Given the description of an element on the screen output the (x, y) to click on. 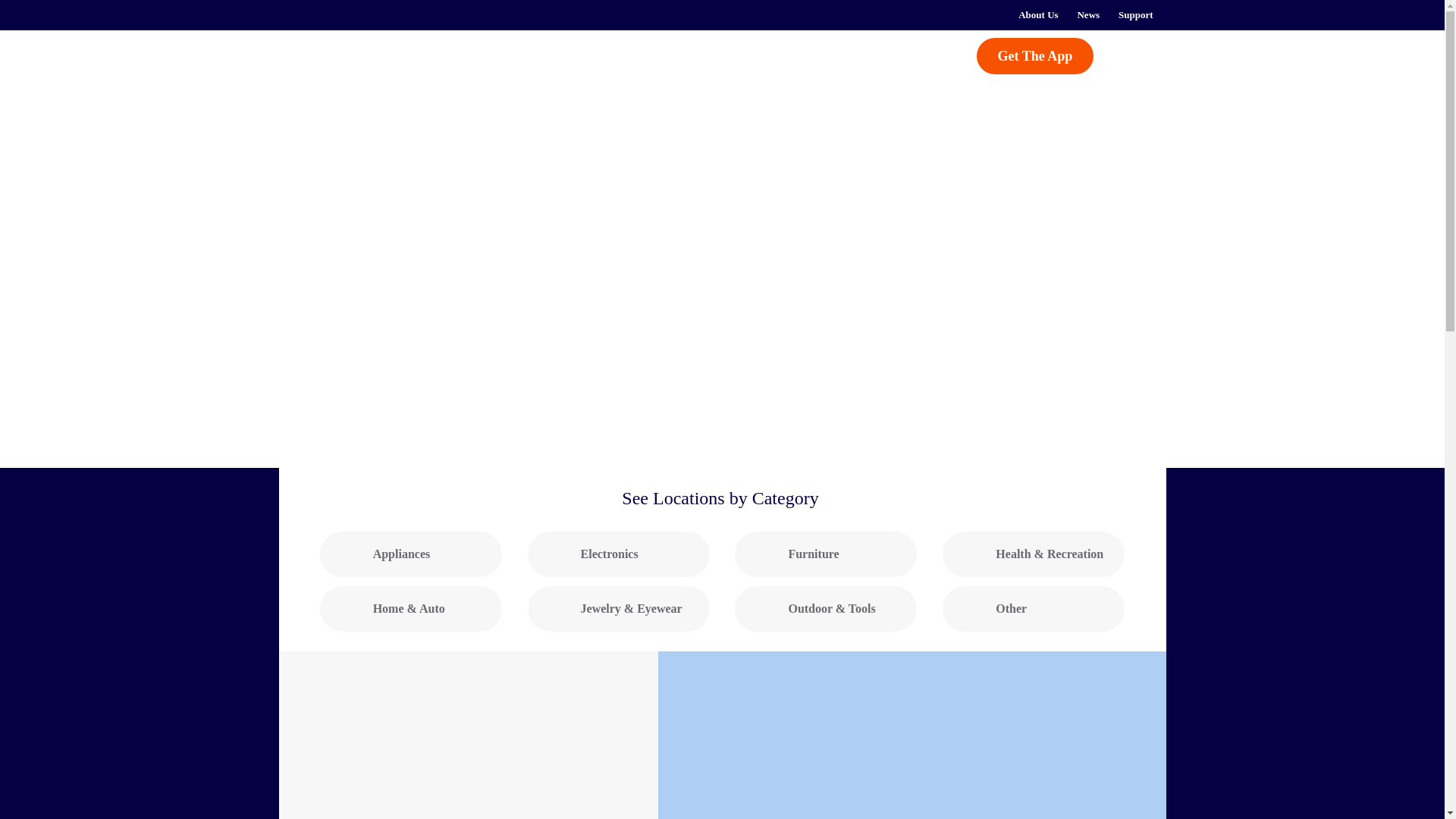
Electronics (618, 554)
Support (1136, 15)
For Partners (769, 54)
Appliances (411, 554)
Acima (358, 63)
How It Works (516, 54)
Ways to Shop (653, 54)
Get The App (1035, 55)
Furniture (826, 554)
About Us (1037, 15)
